Given the description of an element on the screen output the (x, y) to click on. 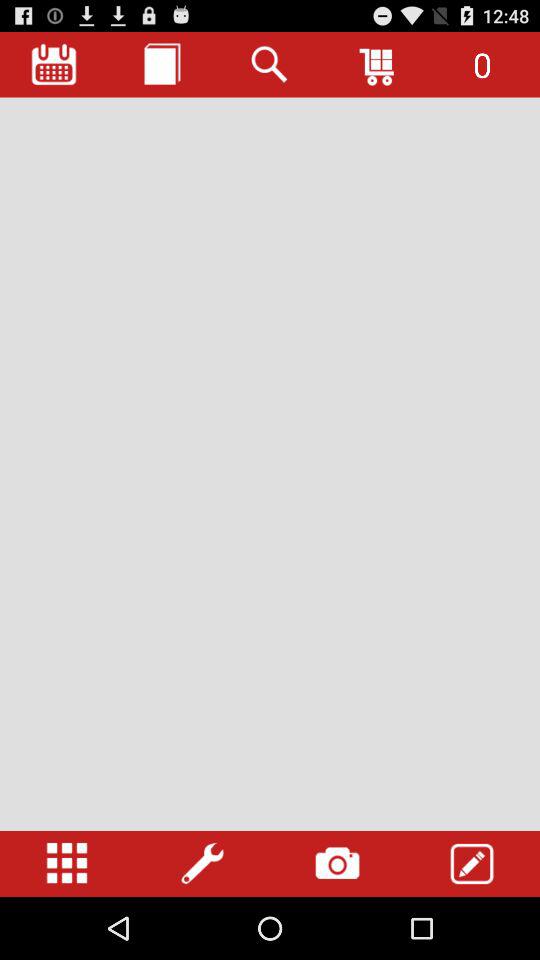
shopping cart (377, 64)
